Given the description of an element on the screen output the (x, y) to click on. 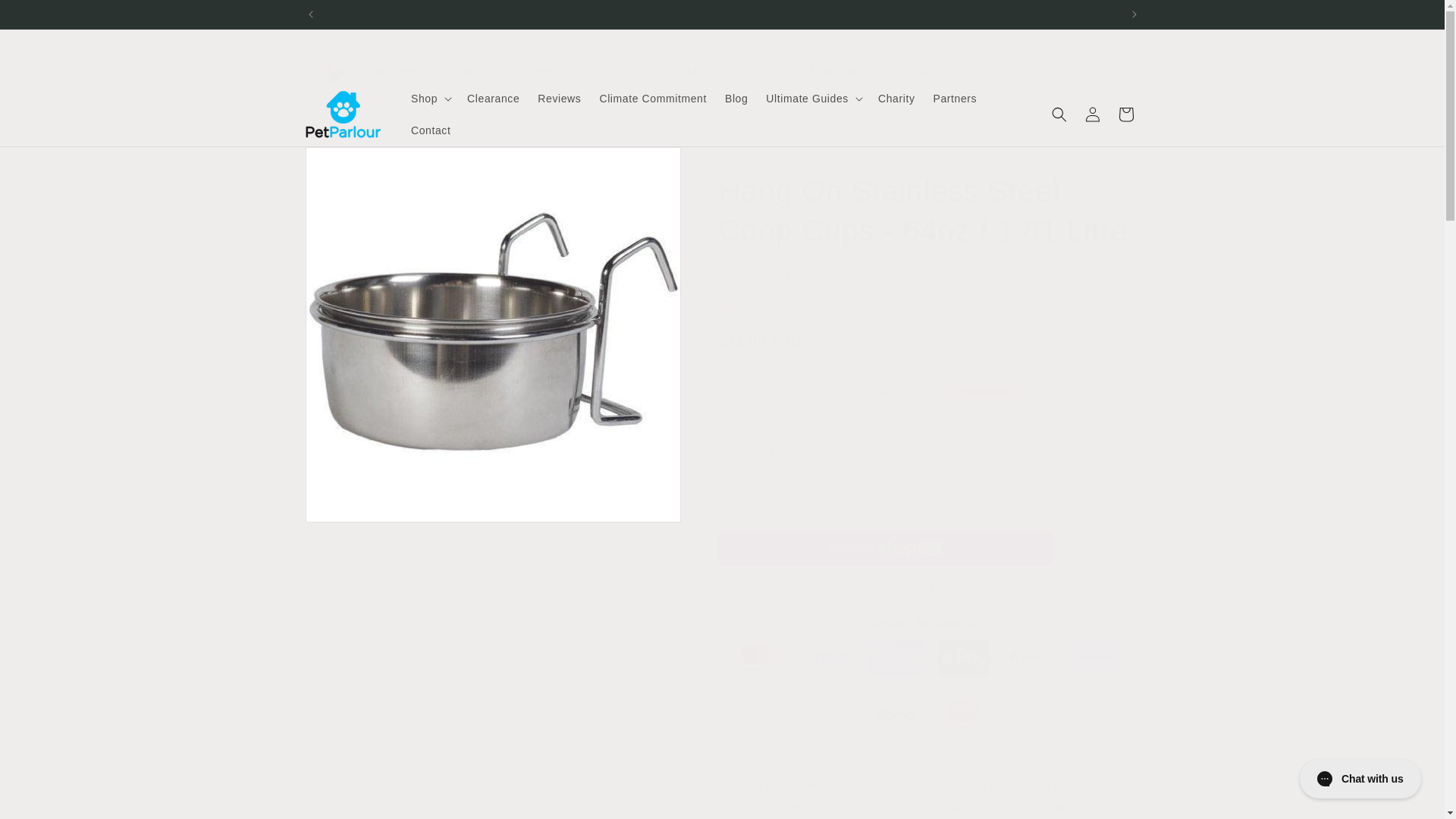
trust-badges-widget (929, 680)
Gorgias live chat messenger (1360, 778)
Skip to content (45, 17)
1 (773, 450)
More info (1109, 71)
